Given the description of an element on the screen output the (x, y) to click on. 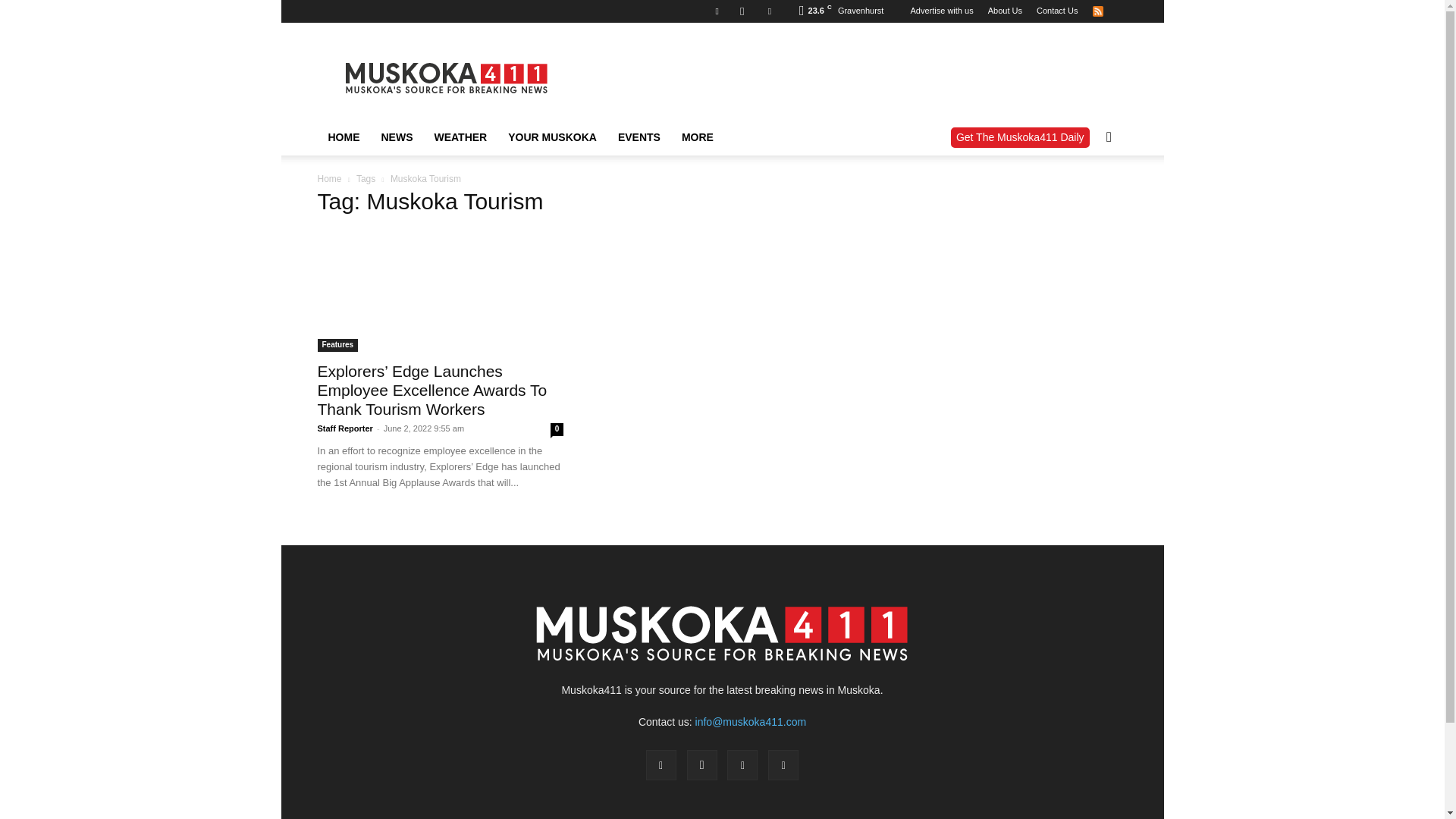
Rss (1097, 10)
Contact Us (1056, 10)
Twitter (769, 10)
Facebook (717, 10)
Advertise with us (941, 10)
Instagram (742, 10)
About Us (1005, 10)
